Given the description of an element on the screen output the (x, y) to click on. 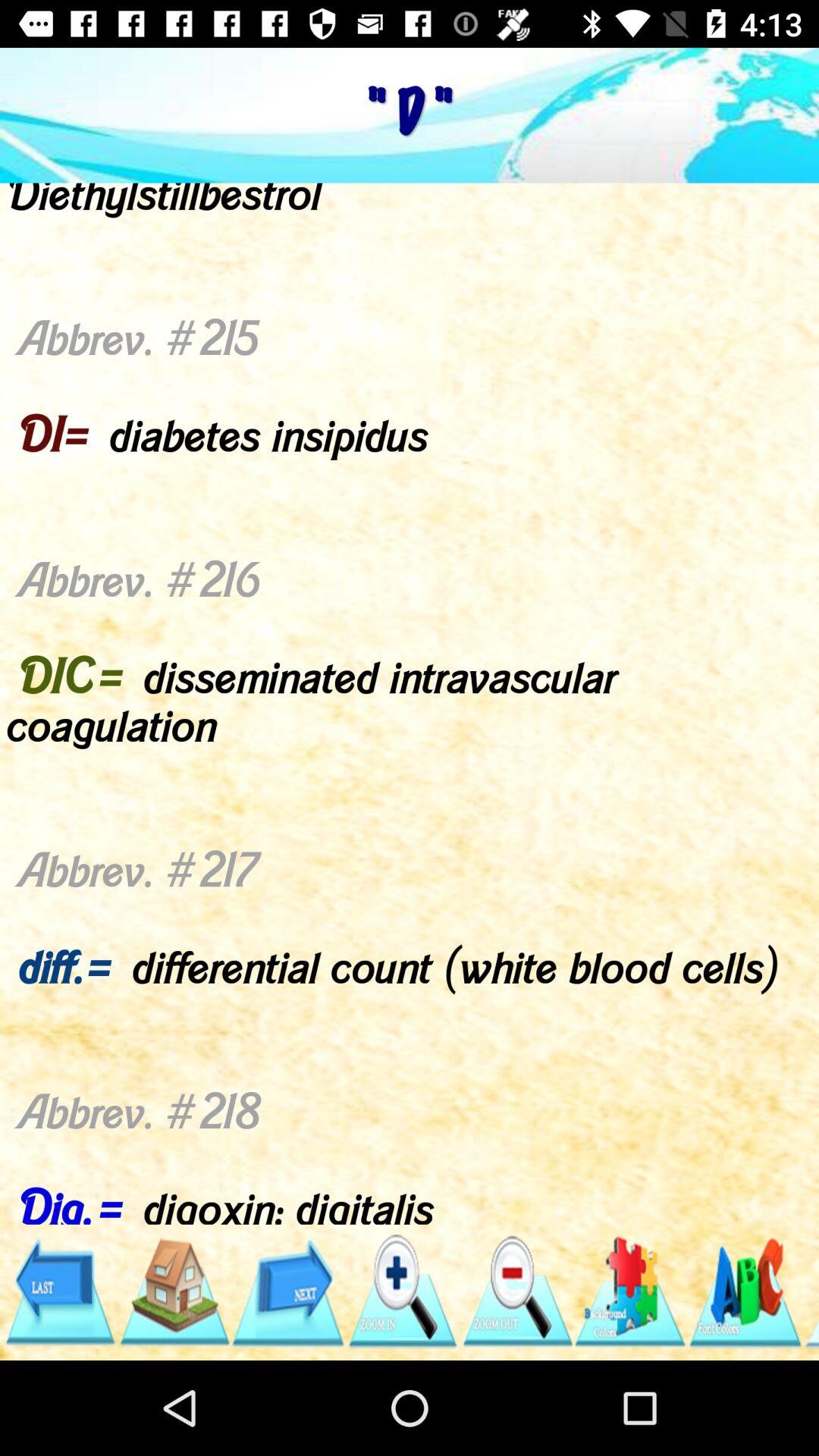
go to previous (59, 1291)
